Given the description of an element on the screen output the (x, y) to click on. 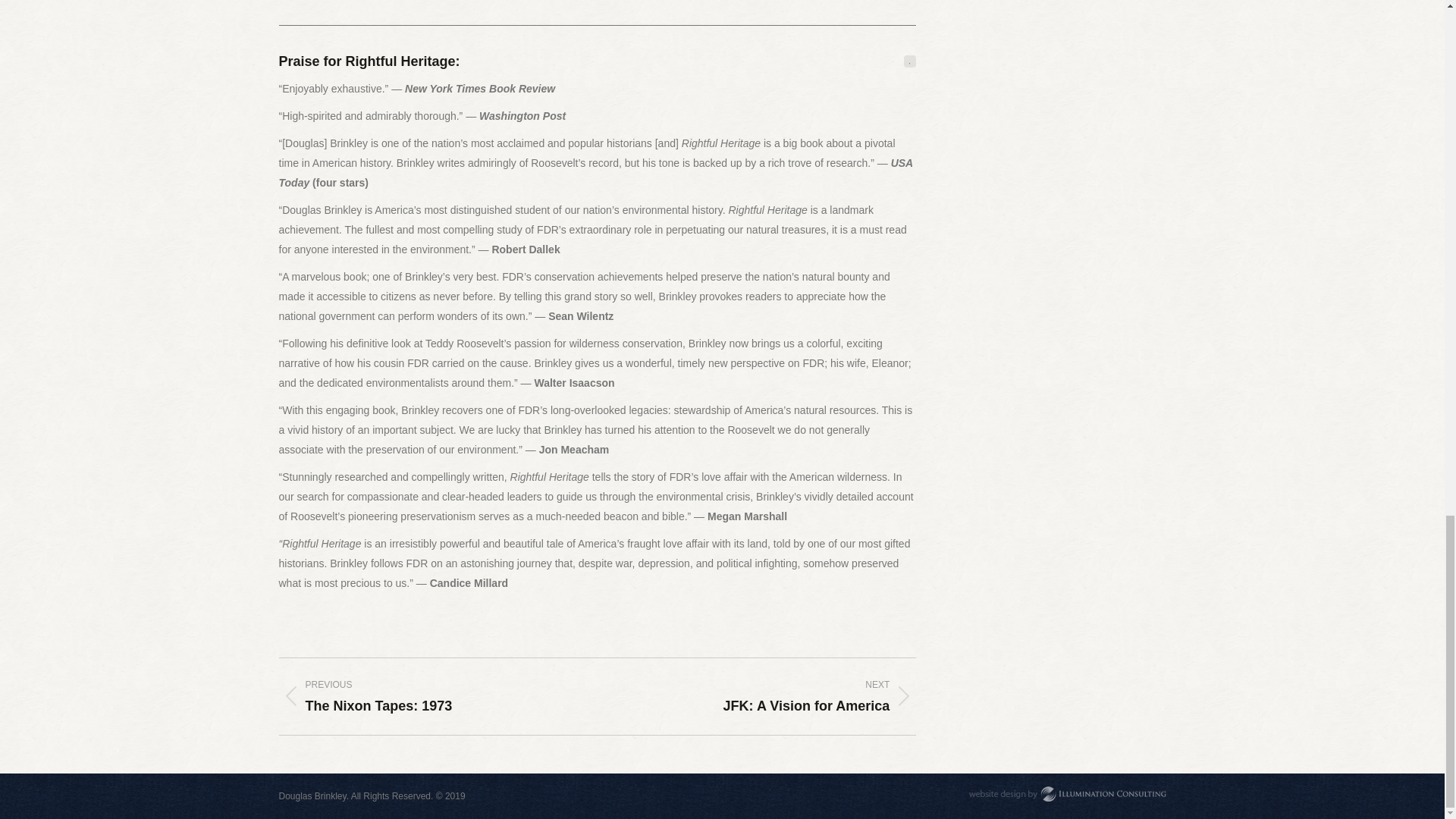
Praise for Rightful Heritage: (427, 696)
